Given the description of an element on the screen output the (x, y) to click on. 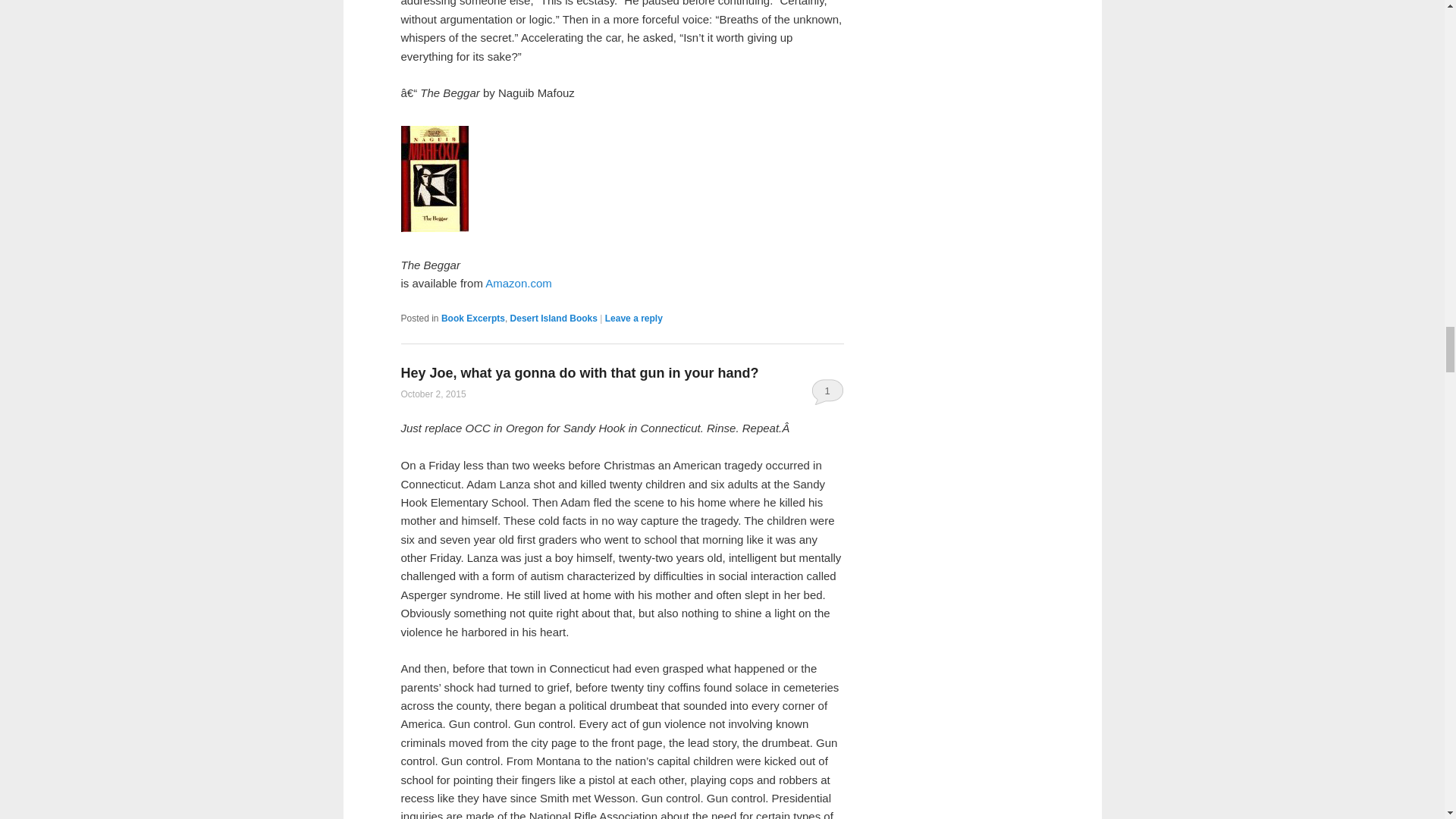
Amazon.com (517, 282)
11:07 am (432, 394)
